Given the description of an element on the screen output the (x, y) to click on. 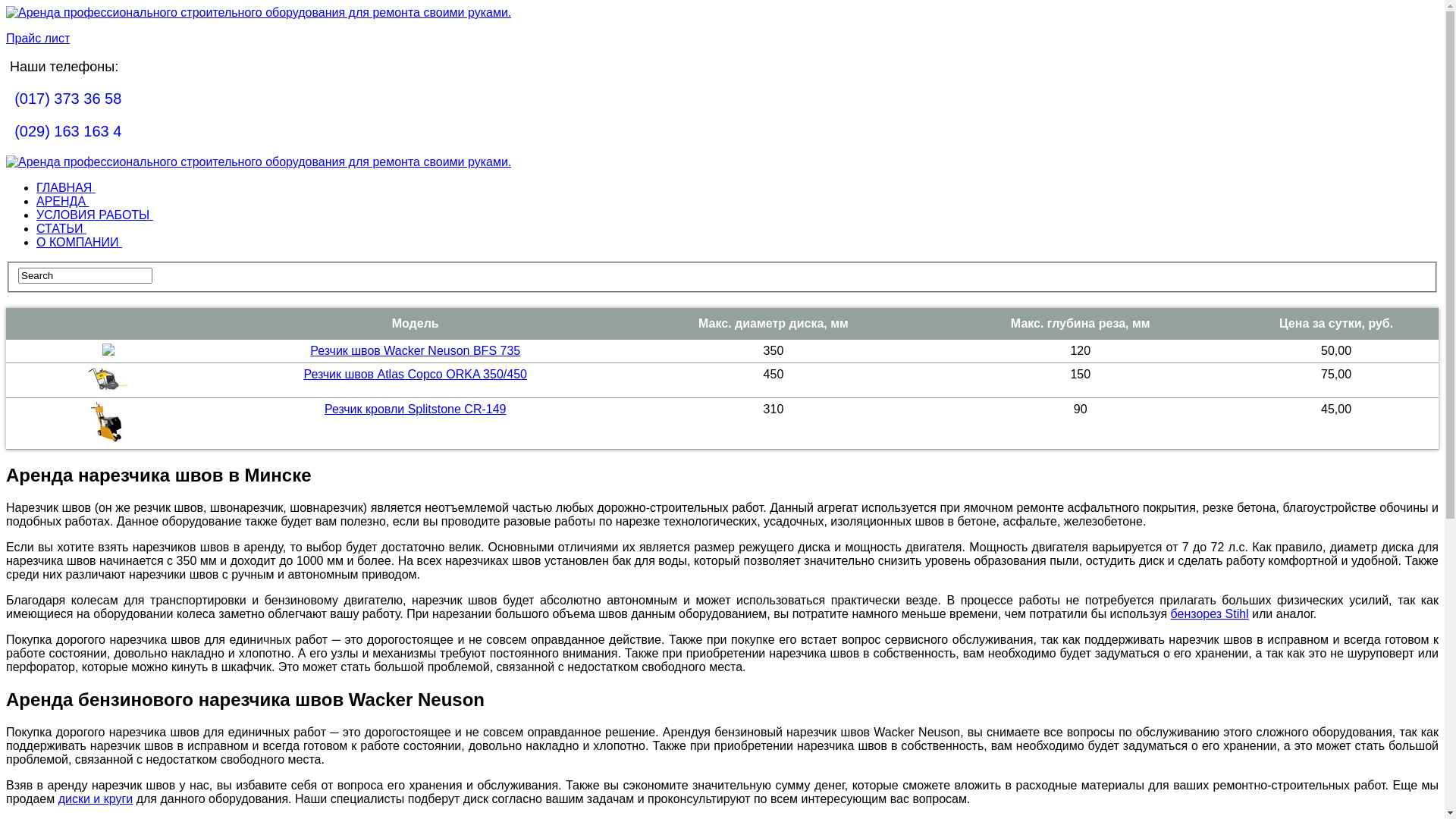
(029) 163 163 4 Element type: text (67, 130)
  Element type: text (10, 130)
(017) 373 36 58 Element type: text (67, 98)
